Given the description of an element on the screen output the (x, y) to click on. 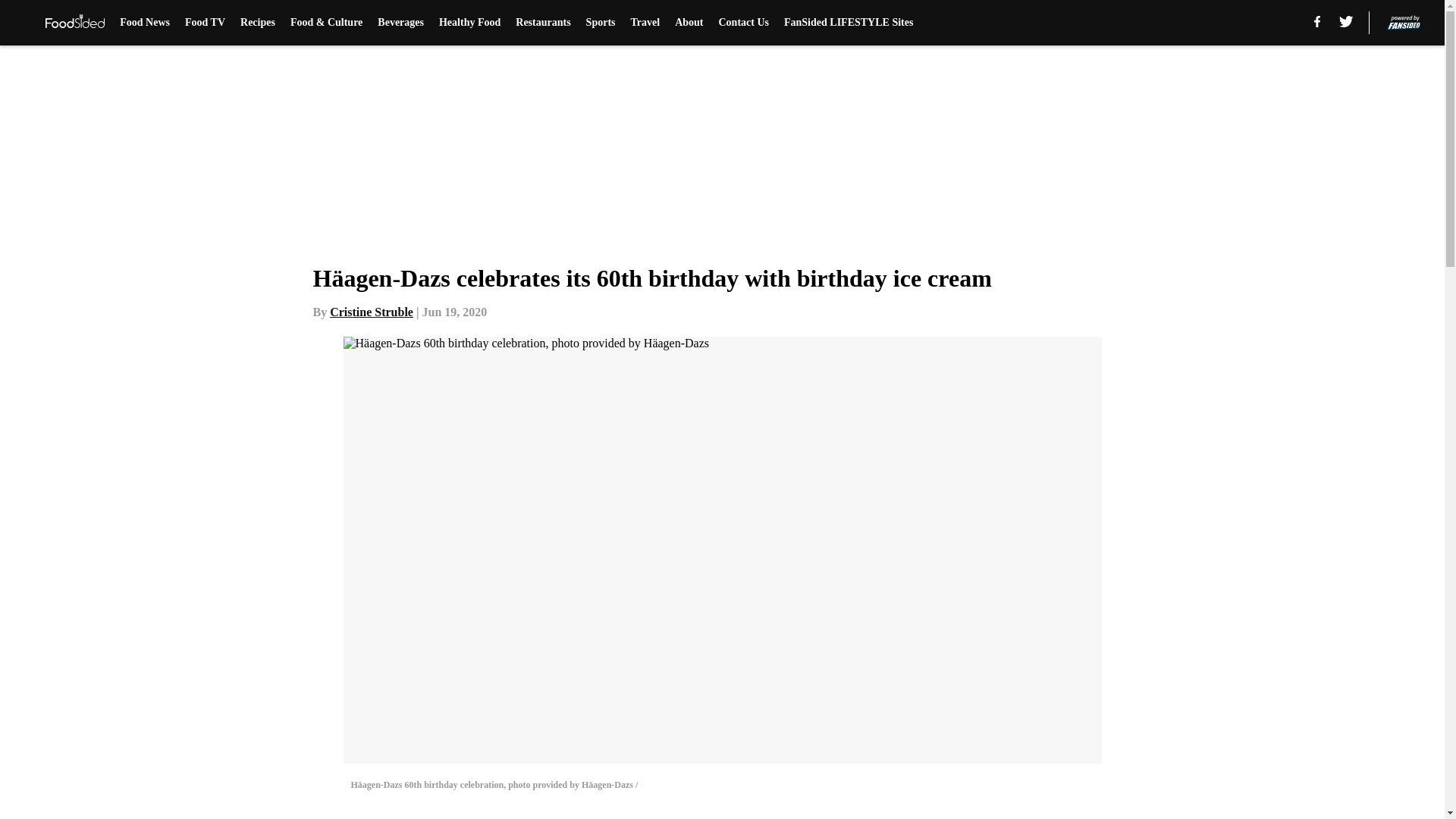
Restaurants (542, 22)
Travel (645, 22)
Food TV (204, 22)
Contact Us (744, 22)
Food News (144, 22)
Cristine Struble (371, 311)
About (689, 22)
Recipes (257, 22)
Sports (600, 22)
Healthy Food (469, 22)
